Given the description of an element on the screen output the (x, y) to click on. 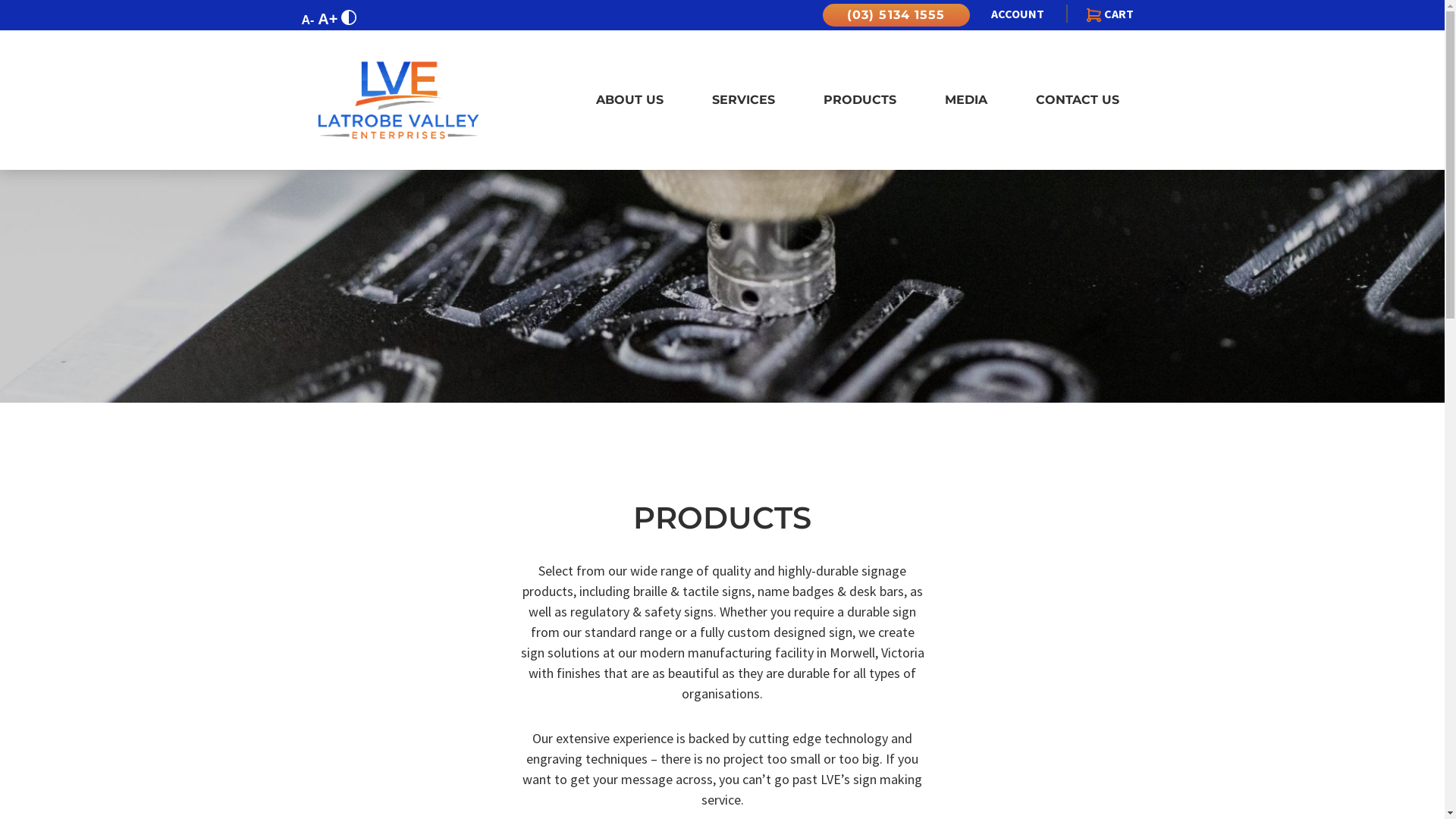
ACCOUNT Element type: text (1017, 13)
(03) 5134 1555 Element type: text (895, 14)
A- Element type: text (307, 20)
CART Element type: text (1099, 13)
SERVICES Element type: text (742, 100)
CONTACT US Element type: text (1077, 100)
ABOUT US Element type: text (629, 100)
MEDIA Element type: text (965, 100)
A+ Element type: text (327, 18)
PRODUCTS Element type: text (859, 100)
